Given the description of an element on the screen output the (x, y) to click on. 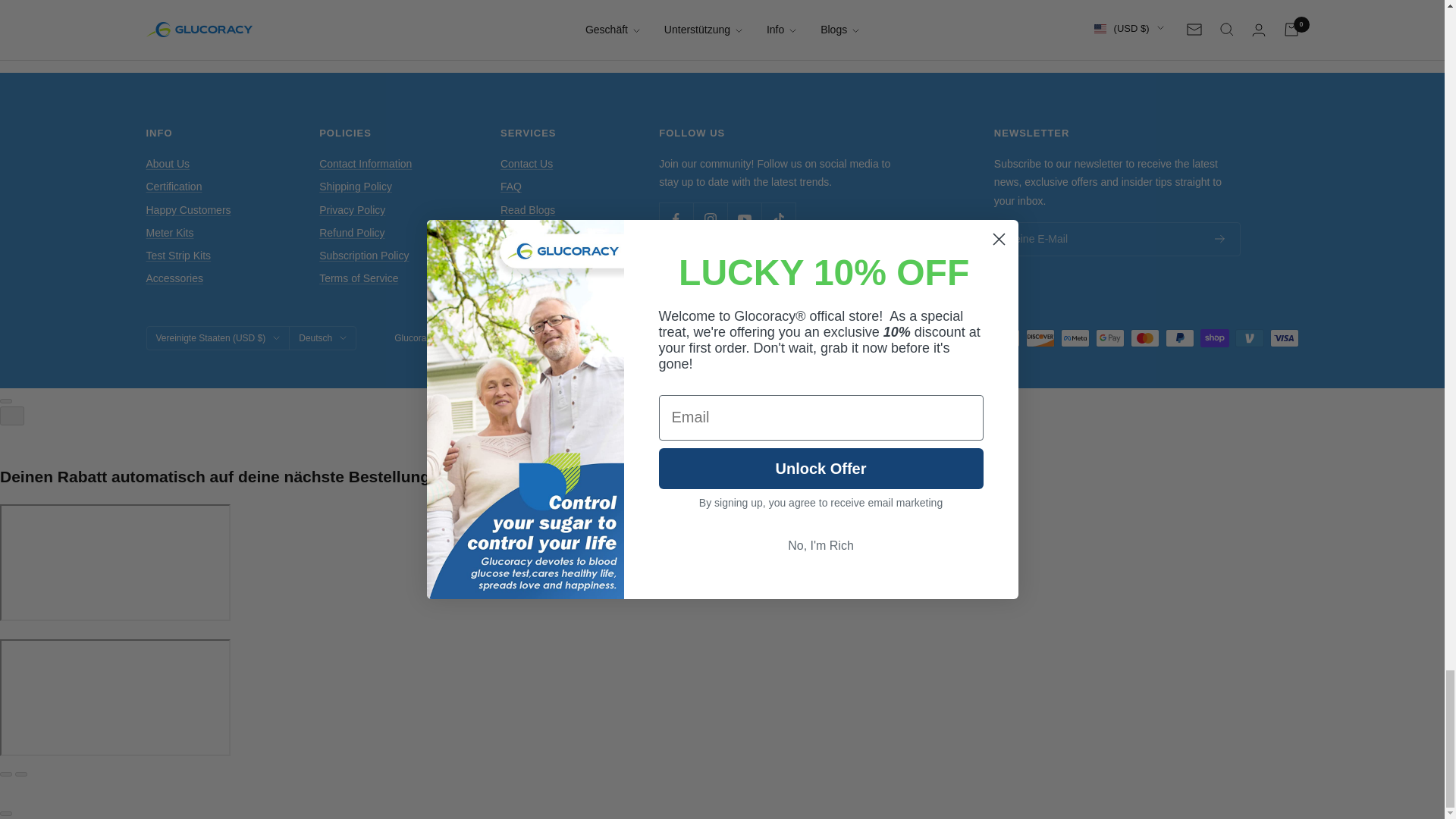
Registrieren (1219, 239)
